Given the description of an element on the screen output the (x, y) to click on. 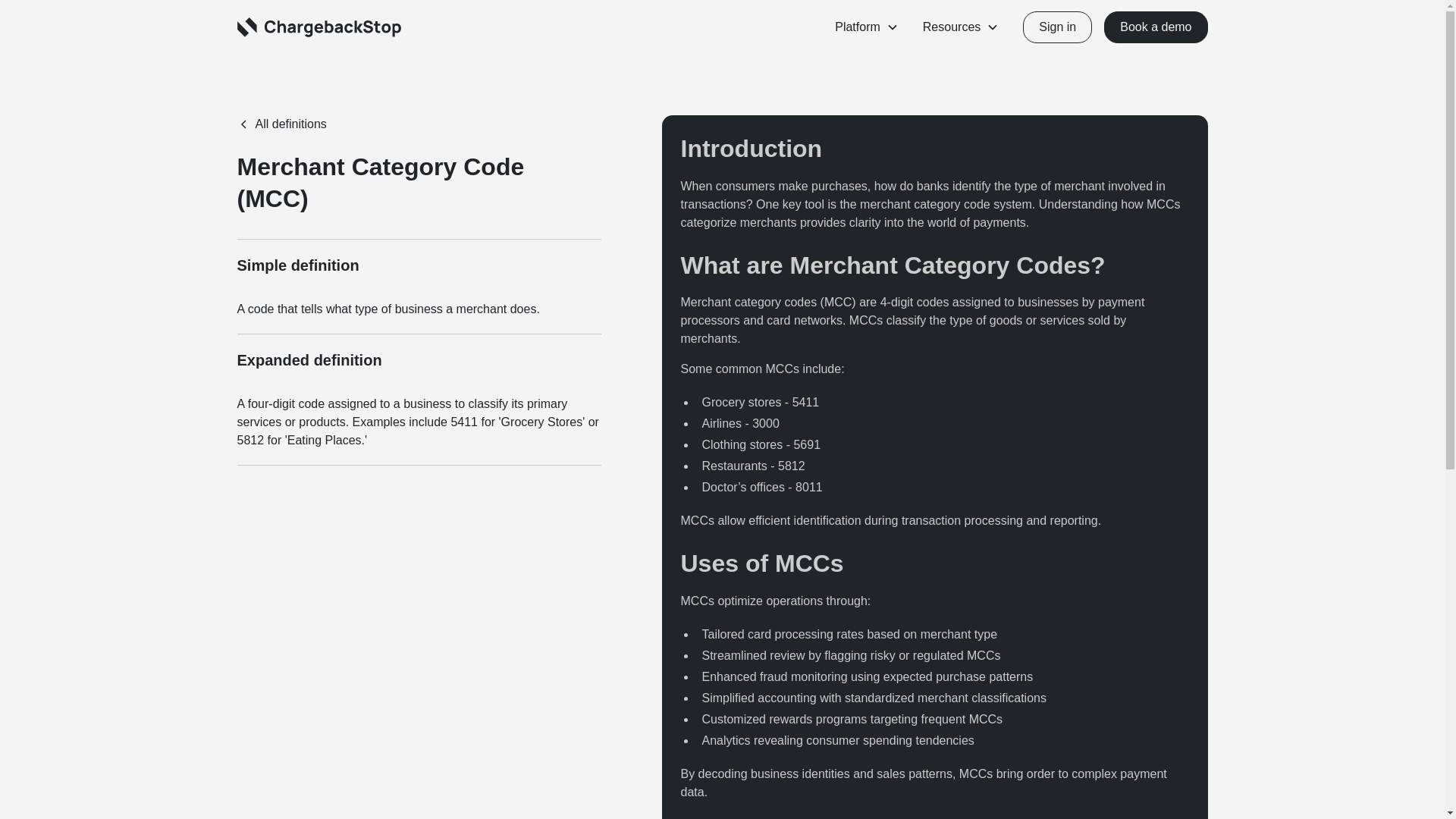
Sign in (1057, 27)
Book a demo (1155, 27)
All definitions (280, 124)
